Given the description of an element on the screen output the (x, y) to click on. 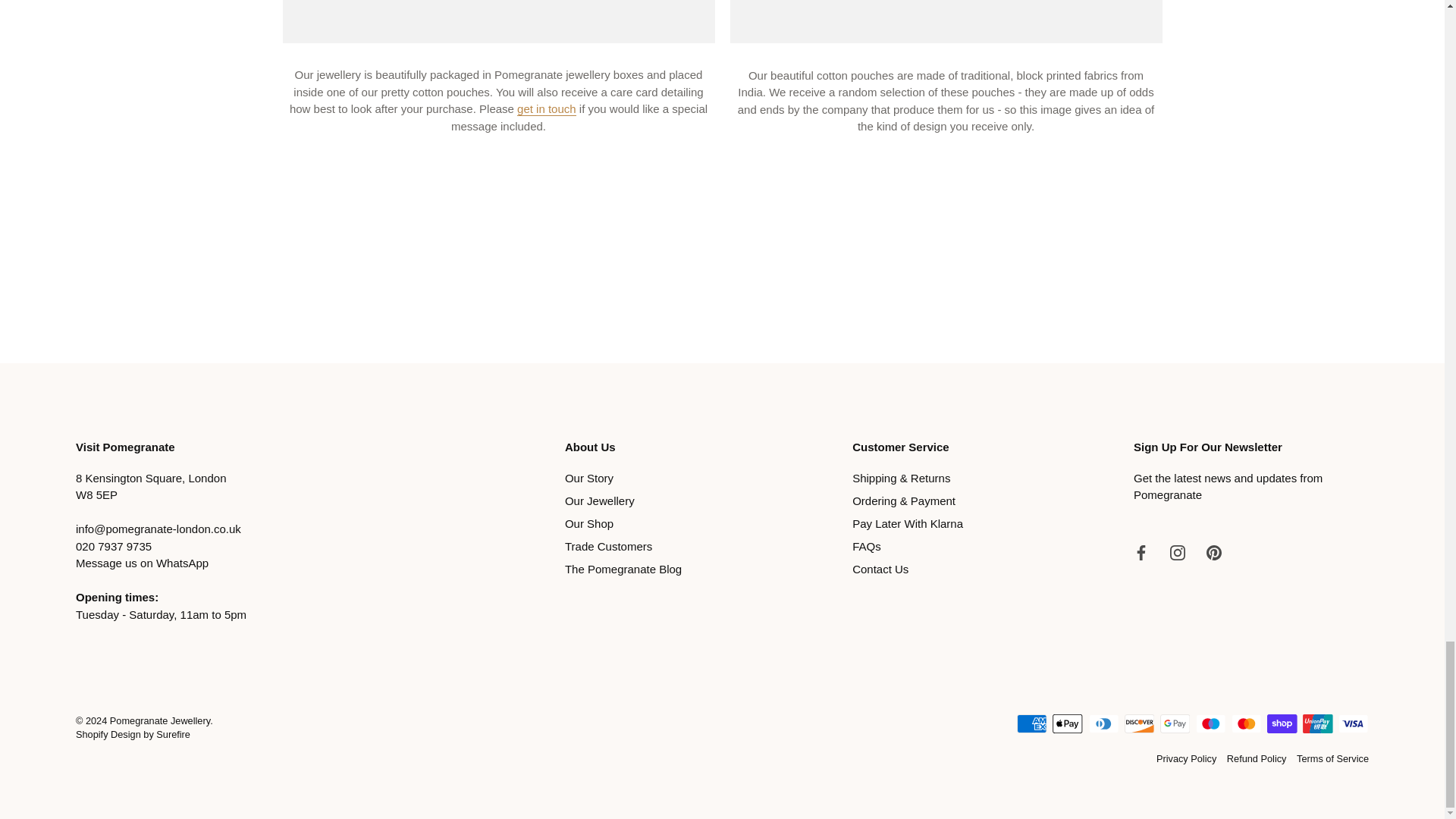
Visa (1353, 723)
Pinterest (1214, 552)
Instagram (1177, 552)
Diners Club (1104, 723)
Google Pay (1174, 723)
Union Pay (1317, 723)
Mastercard (1245, 723)
Discover (1139, 723)
Contact Us (546, 109)
American Express (1031, 723)
